Given the description of an element on the screen output the (x, y) to click on. 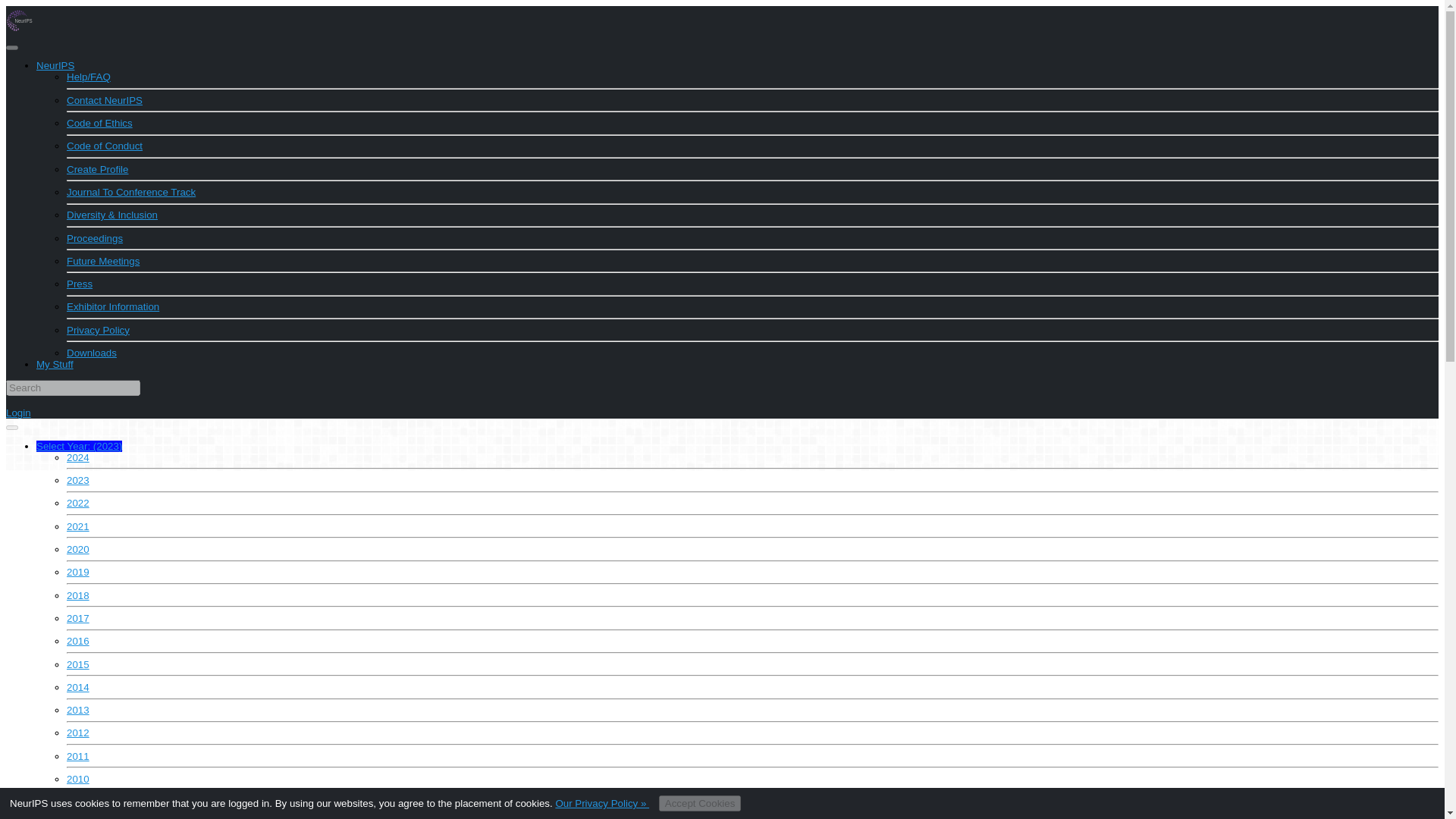
Exhibitor Information (112, 306)
2023 (77, 480)
Press (79, 283)
NeurIPS (55, 65)
2014 (77, 686)
2013 (77, 709)
2012 (77, 732)
2016 (77, 641)
Privacy Policy (97, 329)
2015 (77, 664)
2011 (77, 756)
My Stuff (55, 364)
2017 (77, 618)
Proceedings (94, 238)
Code of Conduct (104, 145)
